Given the description of an element on the screen output the (x, y) to click on. 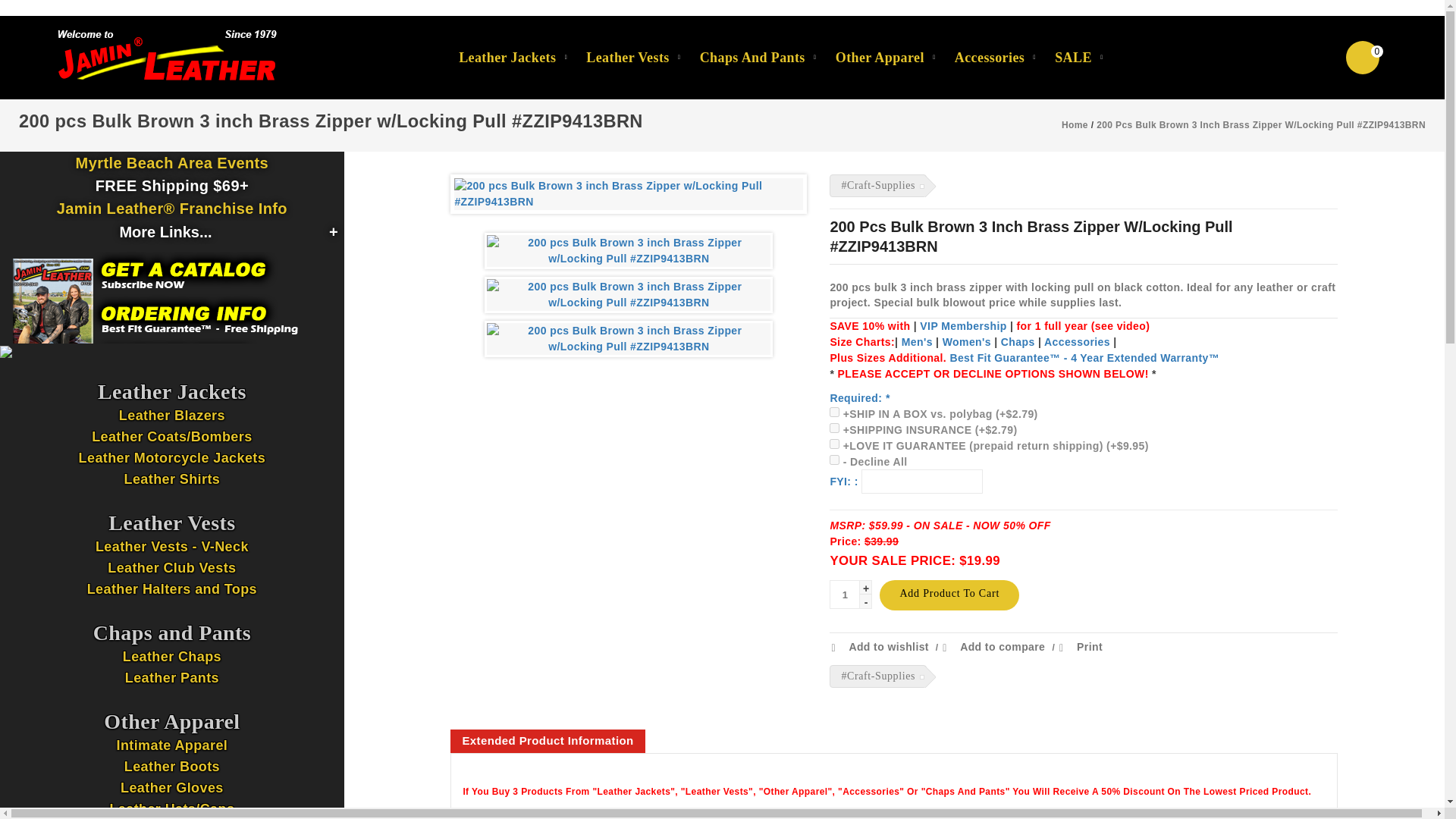
Leather Jackets (507, 57)
1550275 (834, 460)
SALE (1072, 57)
Leather Vests (627, 57)
Leather Jackets (507, 57)
1550272 (834, 411)
1550273 (834, 428)
Chaps and Pants (752, 57)
Shop.JaminLeather.com (166, 56)
Other Apparel (880, 57)
Leather Vests (627, 57)
1550274 (834, 443)
1 (844, 594)
Accessories (989, 57)
Chaps And Pants (752, 57)
